Given the description of an element on the screen output the (x, y) to click on. 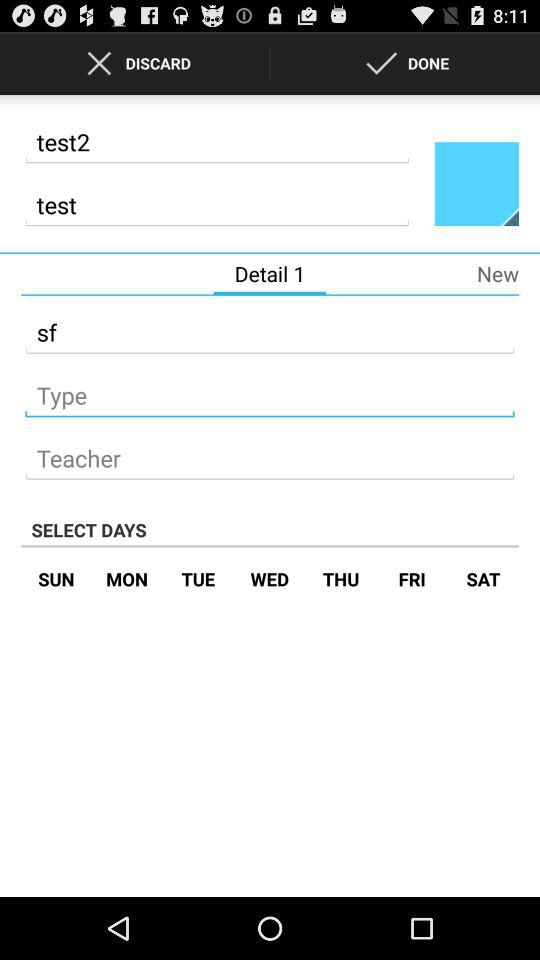
enter what type (270, 389)
